Given the description of an element on the screen output the (x, y) to click on. 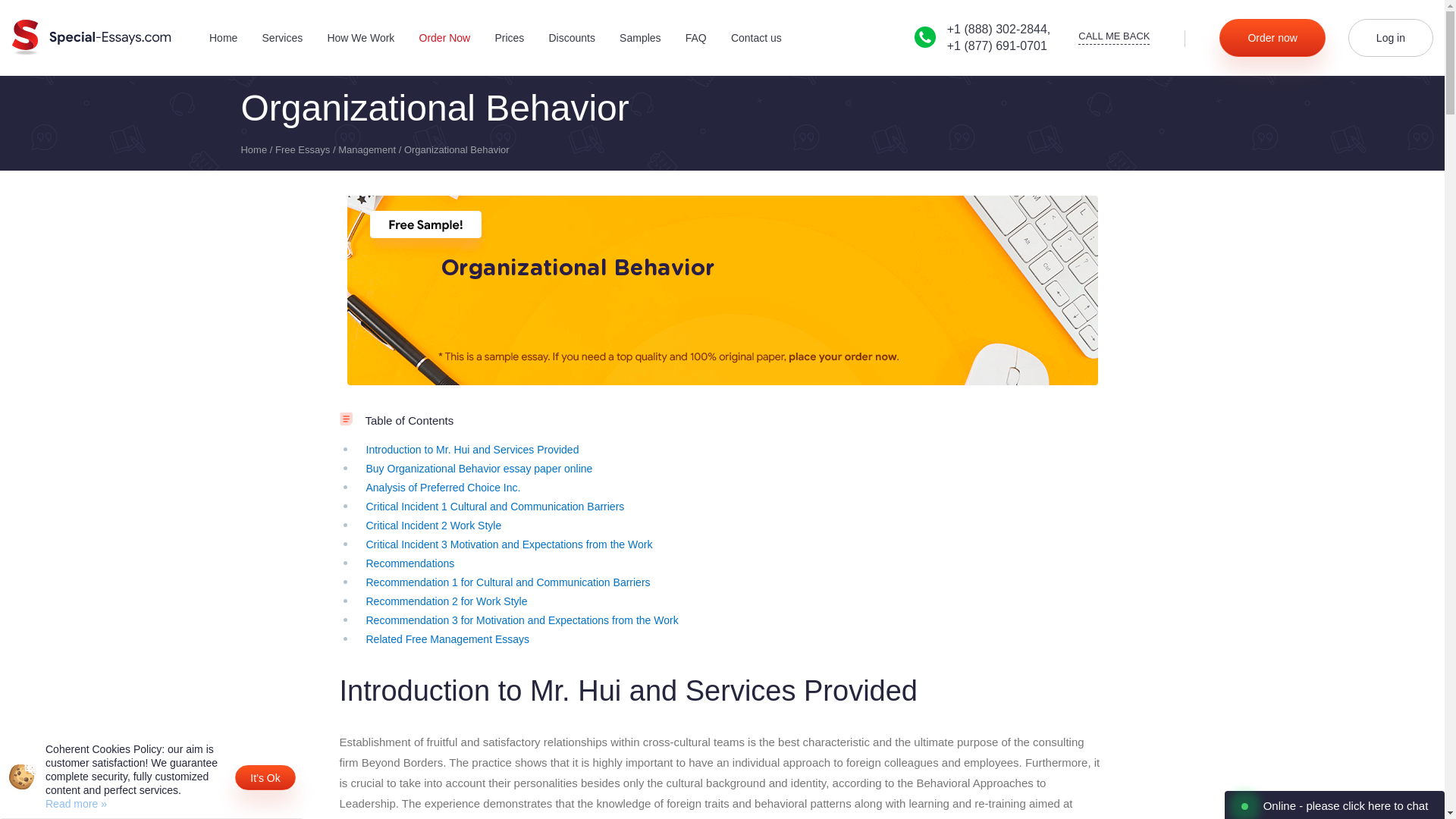
Order Now (444, 37)
Services (282, 37)
How We Work (360, 37)
Management (366, 149)
Home (223, 37)
Critical Incident 2 Work Style (432, 525)
Critical Incident 1 Cultural and Communication Barriers (494, 506)
Free Essays (302, 149)
Discounts (571, 37)
